Given the description of an element on the screen output the (x, y) to click on. 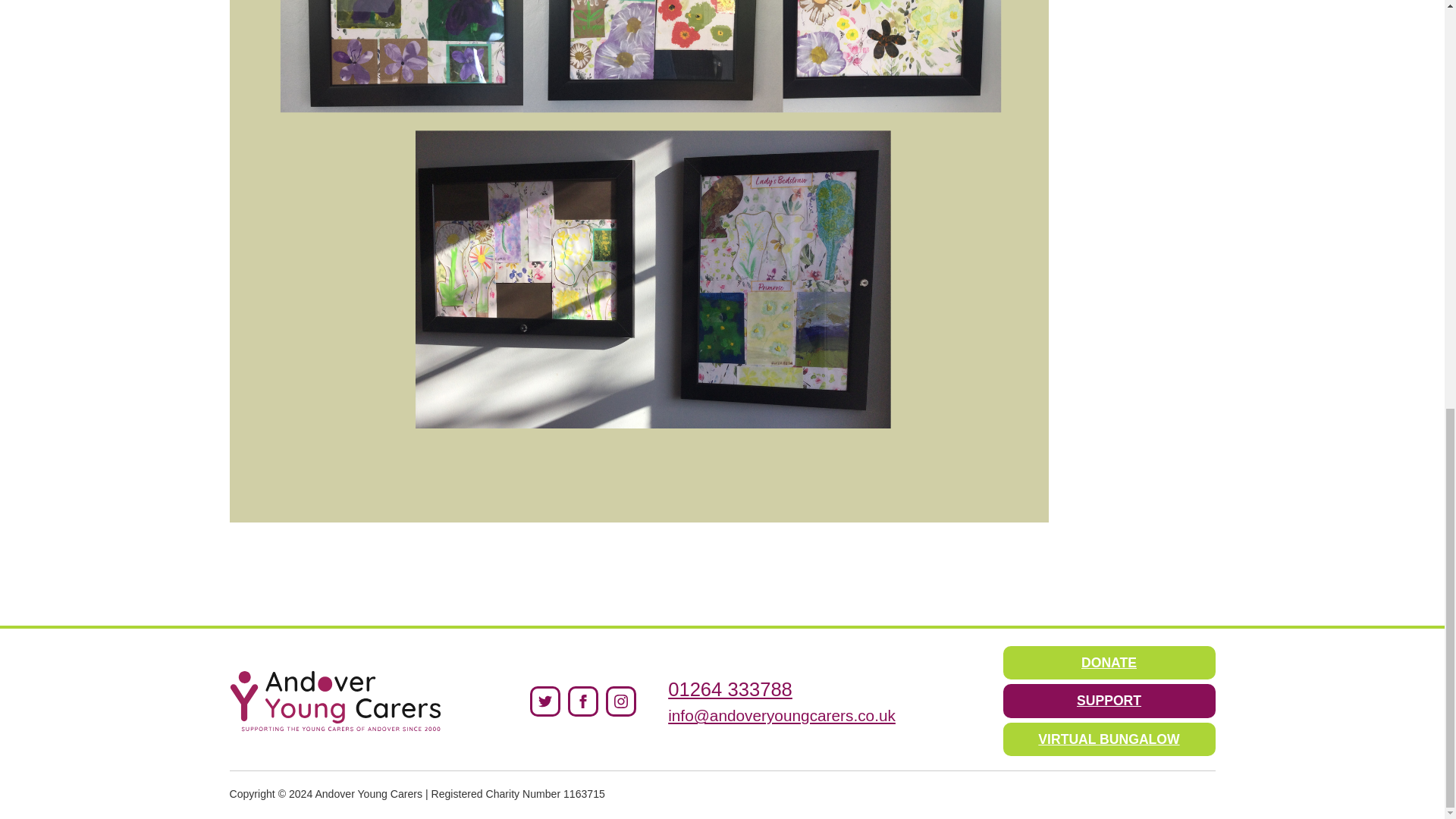
SUPPORT (1109, 700)
DONATE (1109, 662)
01264 333788 (769, 688)
VIRTUAL BUNGALOW (1108, 739)
